Given the description of an element on the screen output the (x, y) to click on. 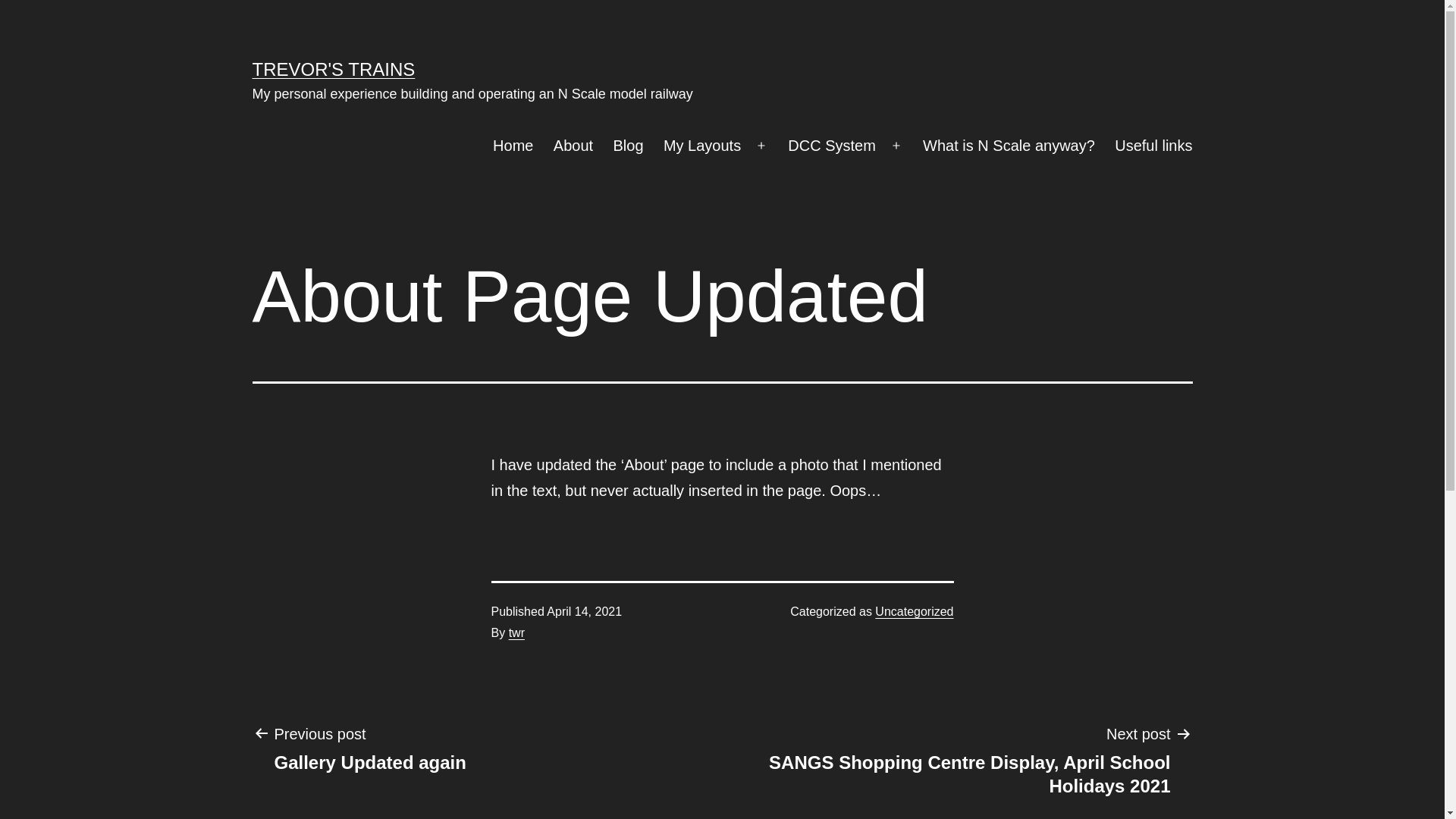
Useful links Element type: text (1153, 145)
twr Element type: text (516, 632)
My Layouts Element type: text (702, 145)
Open menu Element type: text (761, 145)
Previous post
Gallery Updated again Element type: text (369, 747)
Home Element type: text (513, 145)
Blog Element type: text (627, 145)
TREVOR'S TRAINS Element type: text (332, 69)
About Element type: text (573, 145)
DCC System Element type: text (831, 145)
Open menu Element type: text (896, 145)
What is N Scale anyway? Element type: text (1008, 145)
Uncategorized Element type: text (914, 611)
